Given the description of an element on the screen output the (x, y) to click on. 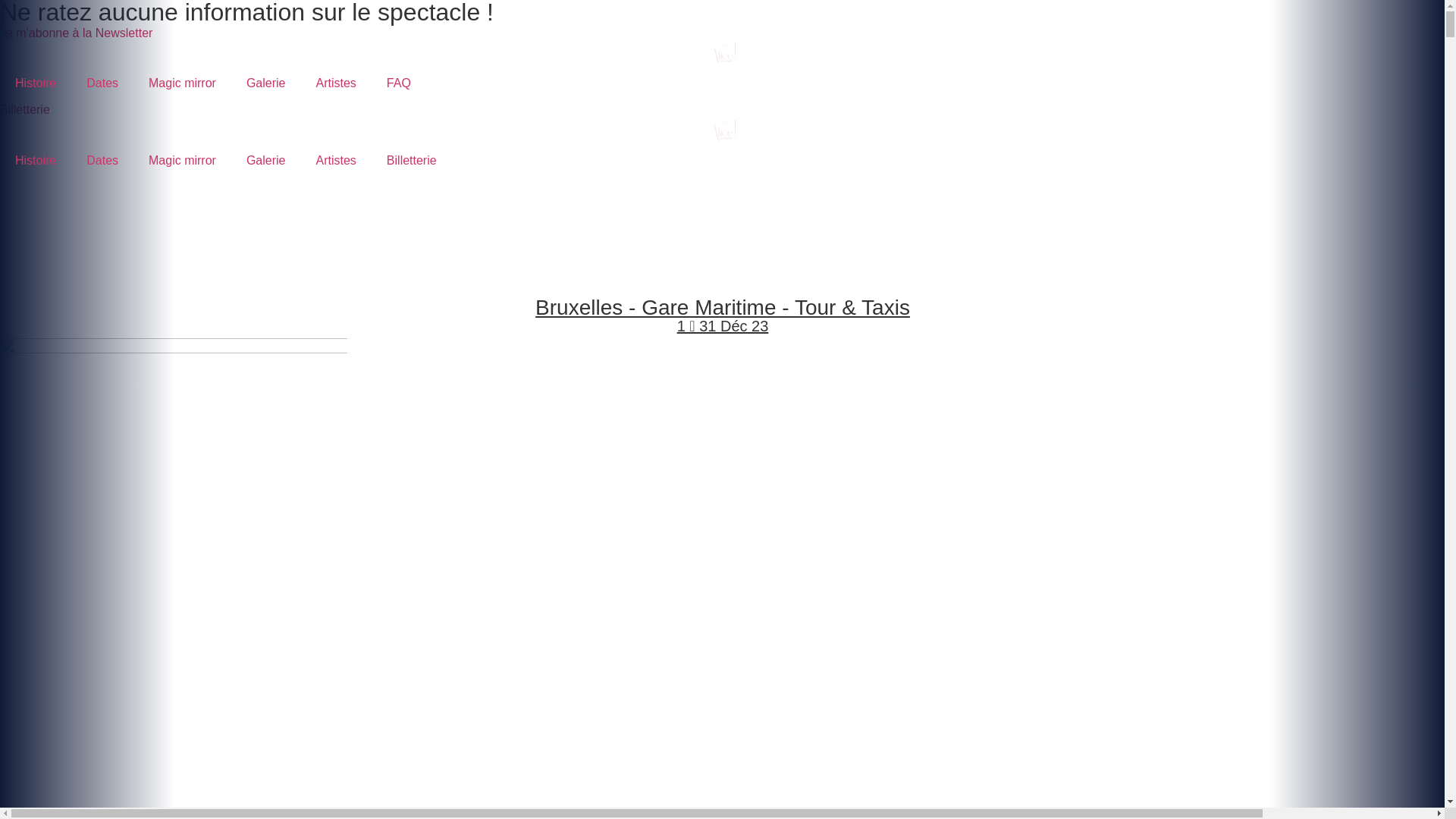
Billetterie Element type: text (25, 109)
Bruxelles - Gare Maritime - Tour & Taxis Element type: text (722, 307)
Galerie Element type: text (266, 160)
Histoire Element type: text (35, 160)
Dates Element type: text (102, 160)
FAQ Element type: text (398, 82)
Billetterie Element type: text (411, 160)
Magic mirror Element type: text (182, 160)
Histoire Element type: text (35, 82)
Magic mirror Element type: text (182, 82)
Galerie Element type: text (266, 82)
Dates Element type: text (102, 82)
Artistes Element type: text (335, 82)
Artistes Element type: text (335, 160)
